Given the description of an element on the screen output the (x, y) to click on. 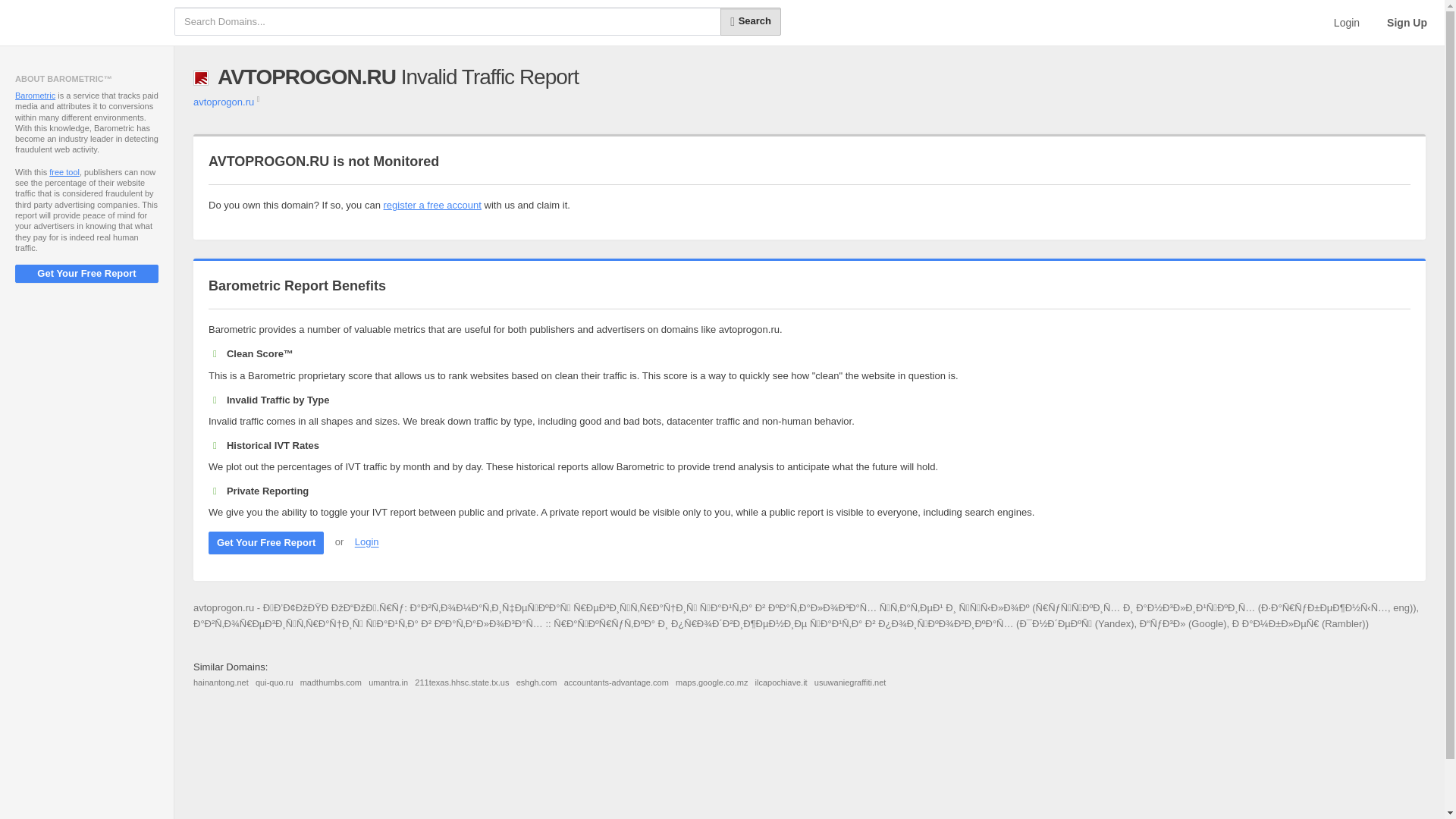
maps.google.co.mz (711, 682)
register a free account (432, 204)
eshgh.com (536, 682)
Login (1346, 22)
usuwaniegraffiti.net (849, 682)
211texas.hhsc.state.tx.us (461, 682)
umantra.in (387, 682)
Get Your Free Report (86, 273)
ilcapochiave.it (781, 682)
Login (366, 542)
